Given the description of an element on the screen output the (x, y) to click on. 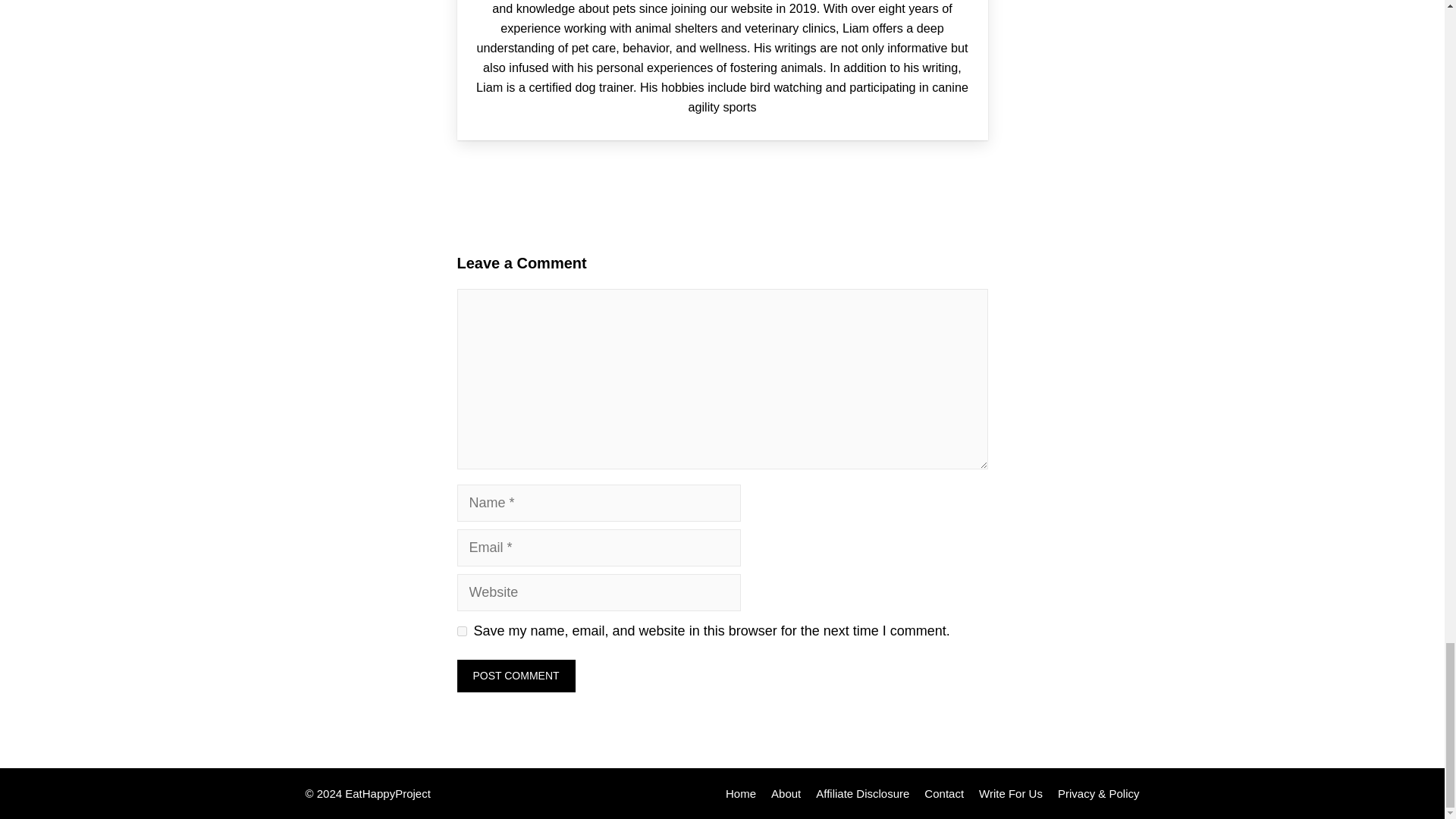
yes (461, 631)
Post Comment (516, 676)
